Given the description of an element on the screen output the (x, y) to click on. 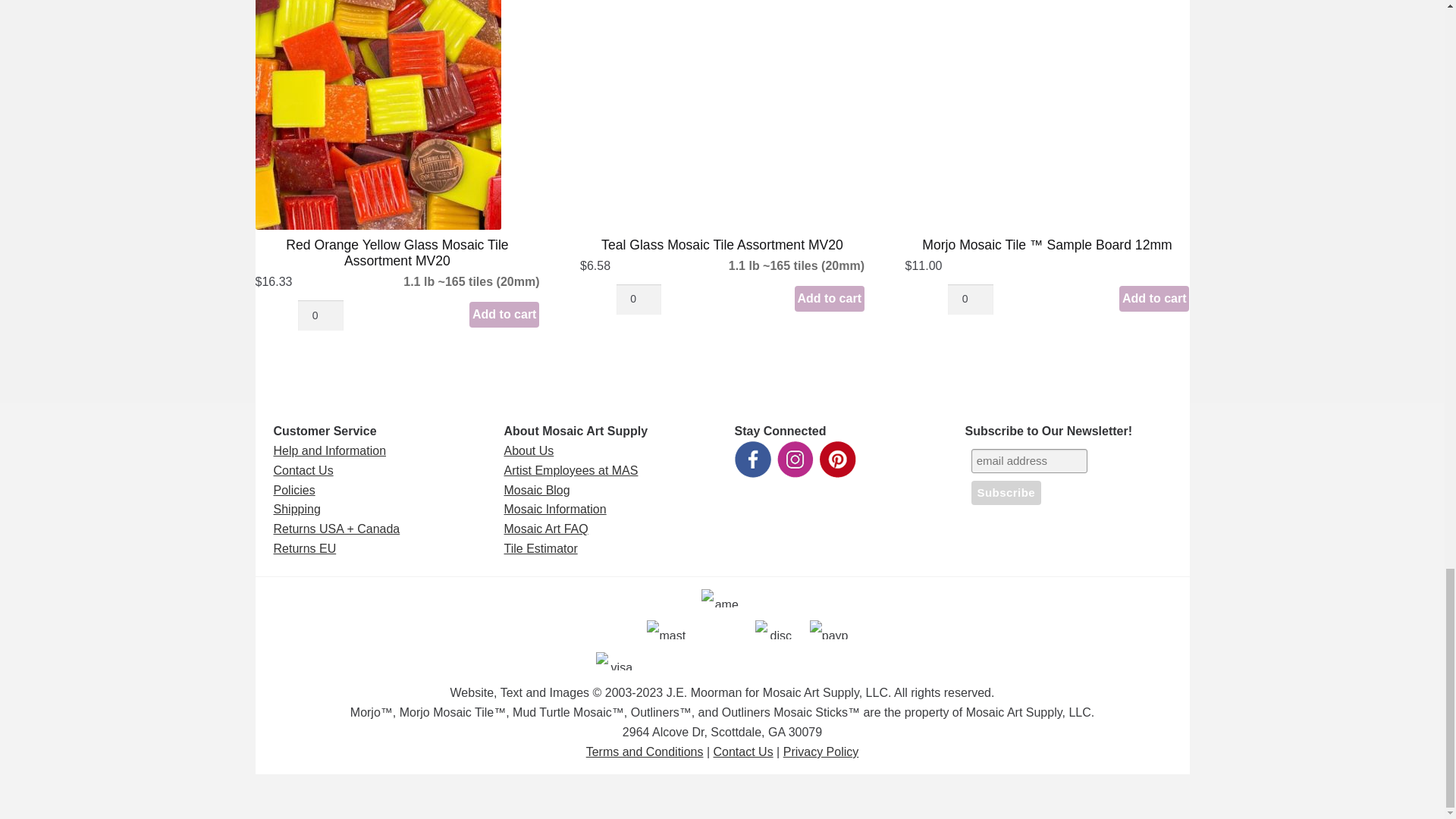
0 (320, 315)
Discover (774, 628)
Mosaic Art Supply on Facebook (751, 459)
0 (969, 299)
Subscribe (1006, 492)
MasterCard (665, 628)
American Express (720, 597)
Mosaic Art Supply on Instagram (794, 459)
Mosaic Art Supply on Pinterest (837, 459)
PayPal (828, 628)
Visa (614, 660)
0 (638, 299)
